Given the description of an element on the screen output the (x, y) to click on. 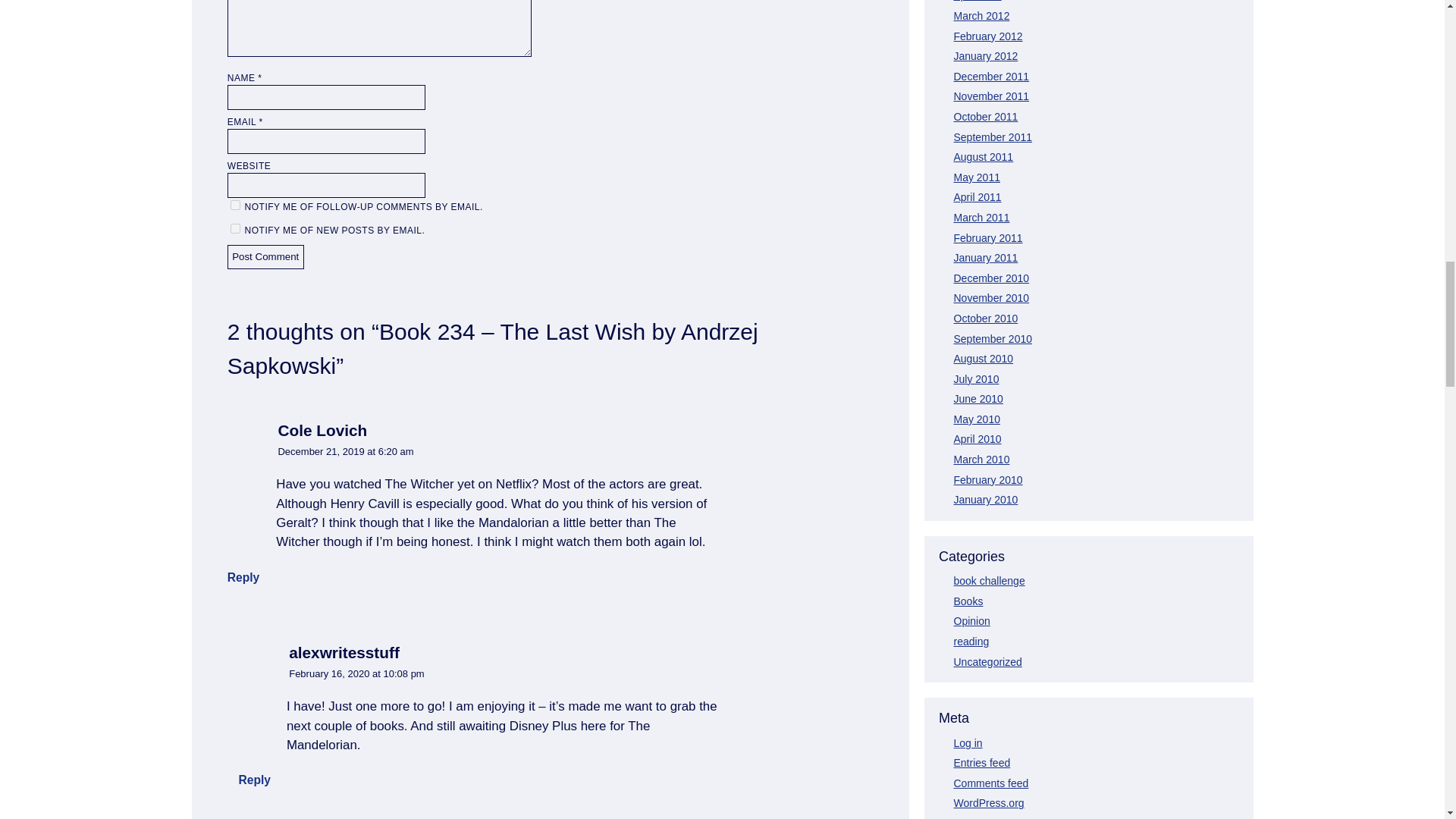
subscribe (235, 228)
Post Comment (265, 257)
subscribe (235, 204)
